Given the description of an element on the screen output the (x, y) to click on. 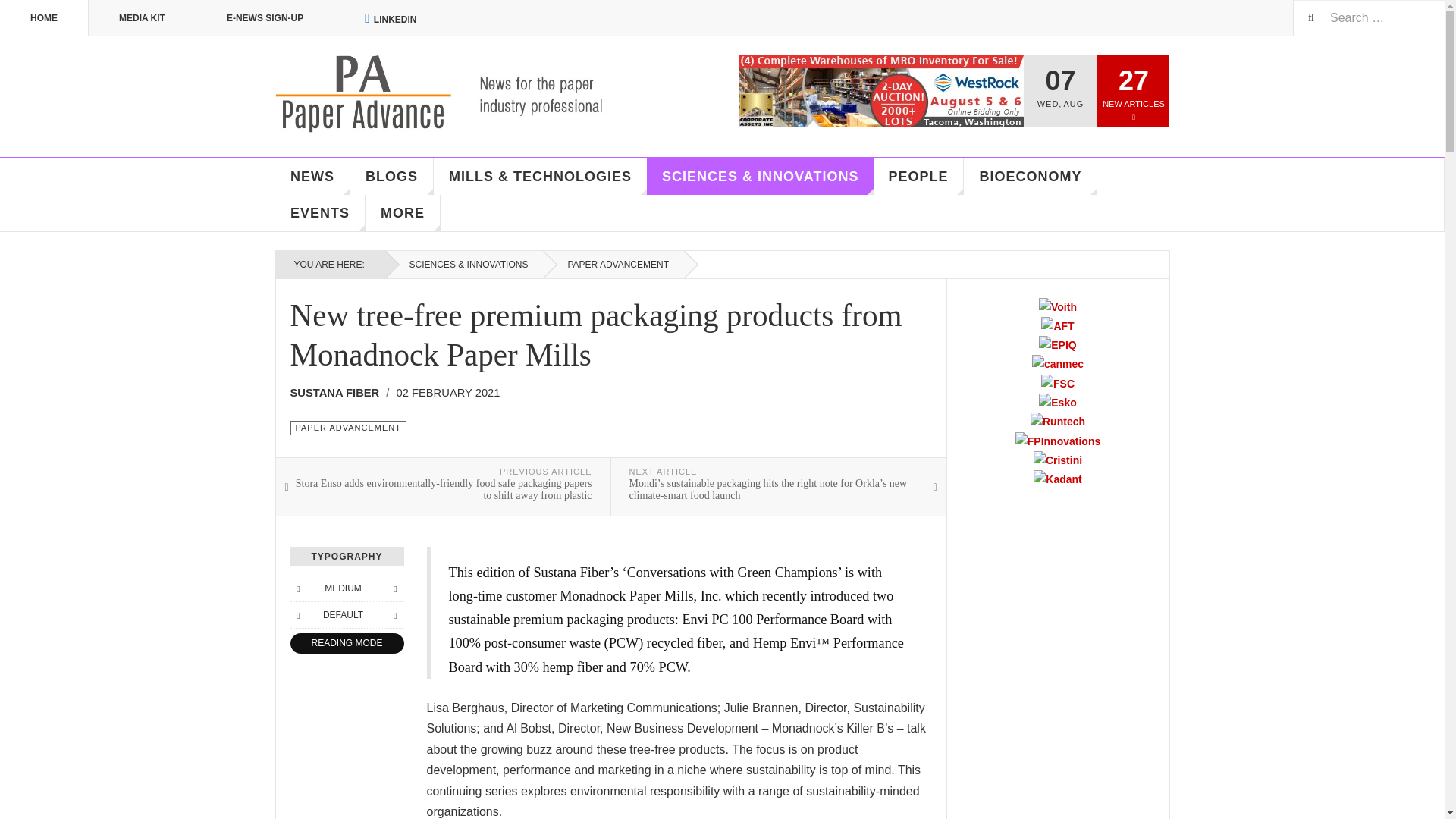
Paper Advance (461, 93)
LINKEDIN (390, 18)
NEWS (312, 176)
HOME (44, 18)
E-NEWS SIGN-UP (265, 18)
MEDIA KIT (142, 18)
